Given the description of an element on the screen output the (x, y) to click on. 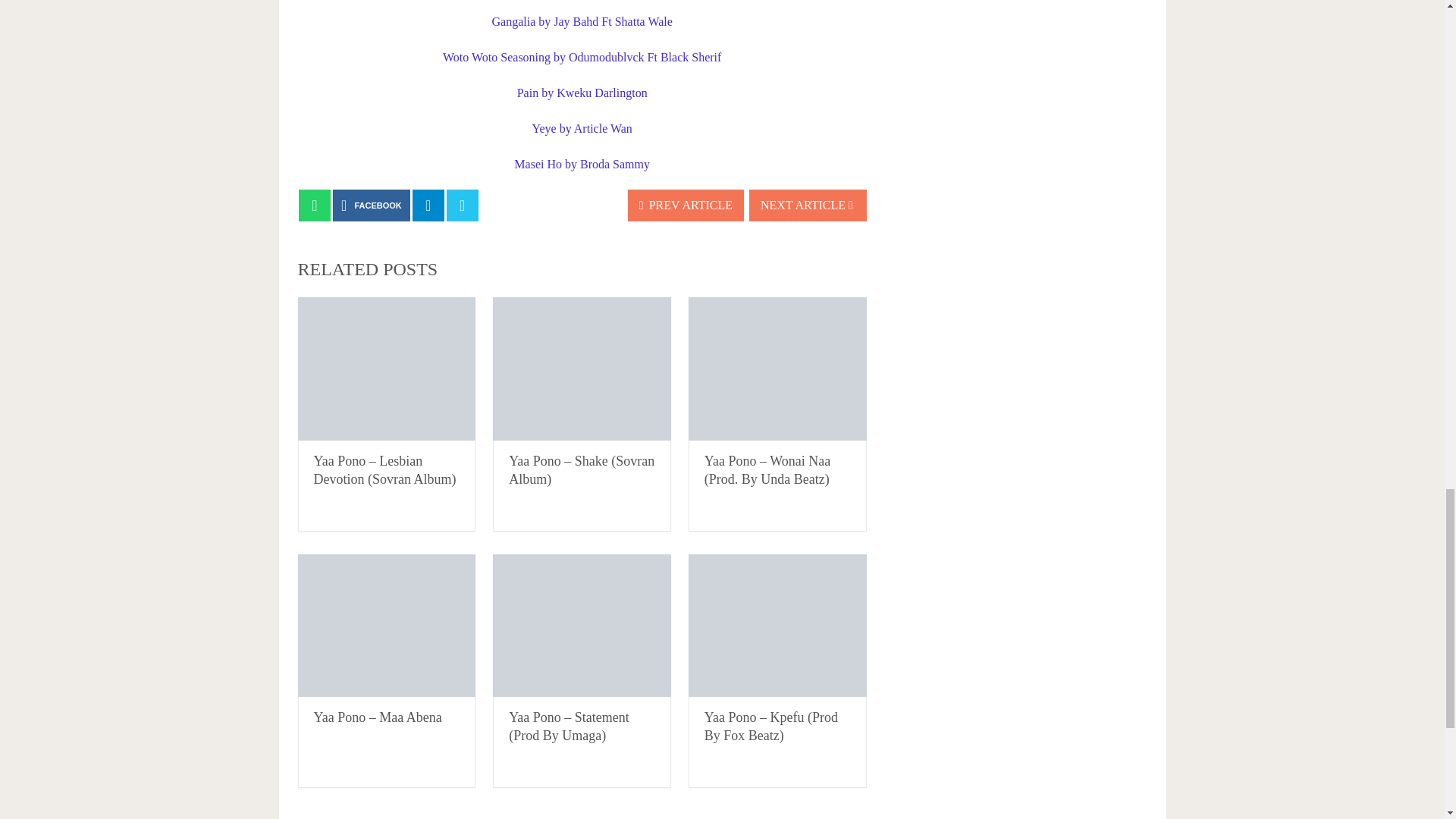
Gangalia by Jay Bahd Ft Shatta Wale (581, 21)
Pain by Kweku Darlington (581, 92)
FACEBOOK (371, 205)
Masei Ho by Broda Sammy (581, 164)
Woto Woto Seasoning by Odumodublvck Ft Black Sherif (581, 56)
Yeye by Article Wan (581, 128)
